Given the description of an element on the screen output the (x, y) to click on. 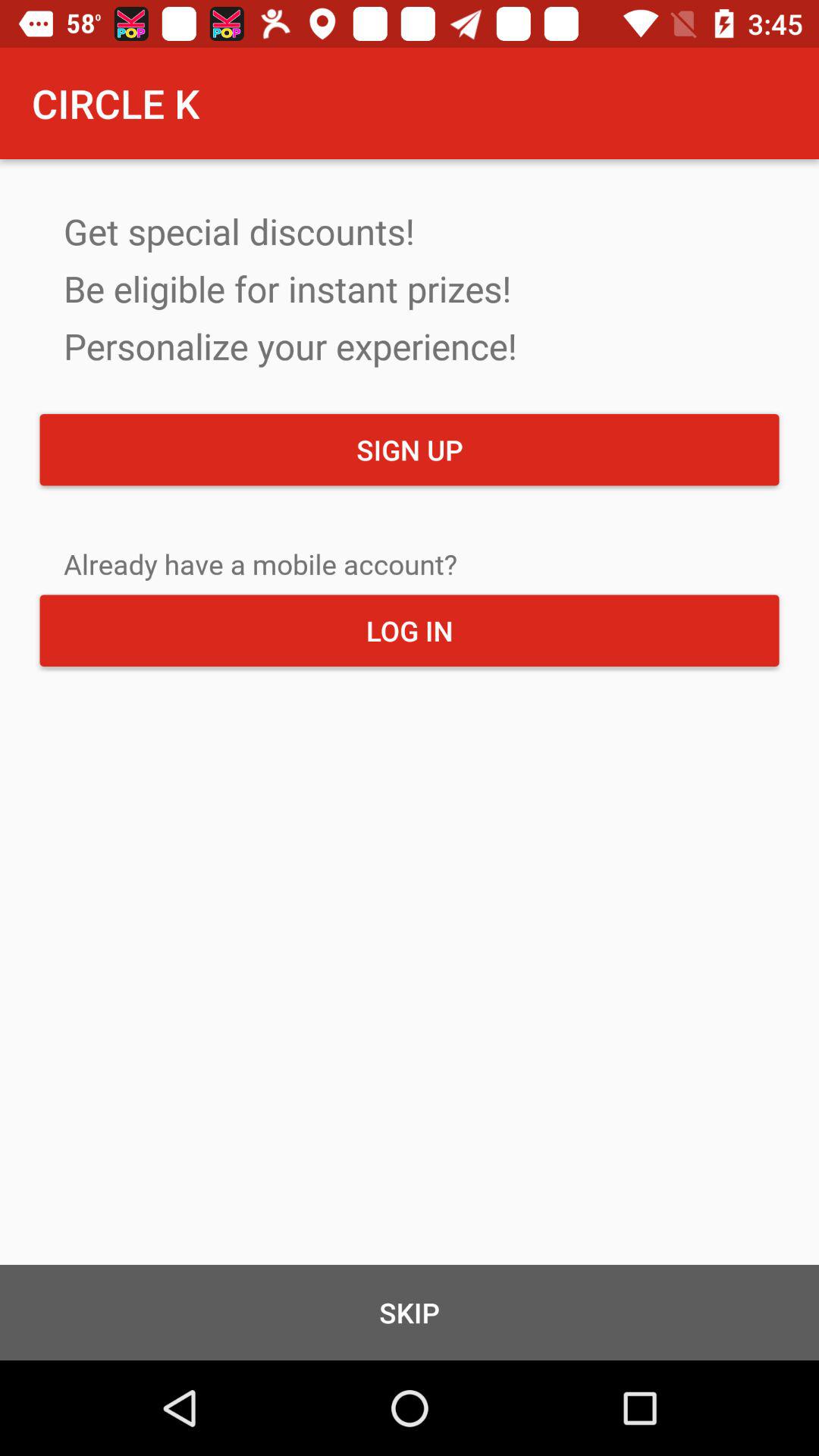
choose the icon below the log in item (409, 1312)
